Given the description of an element on the screen output the (x, y) to click on. 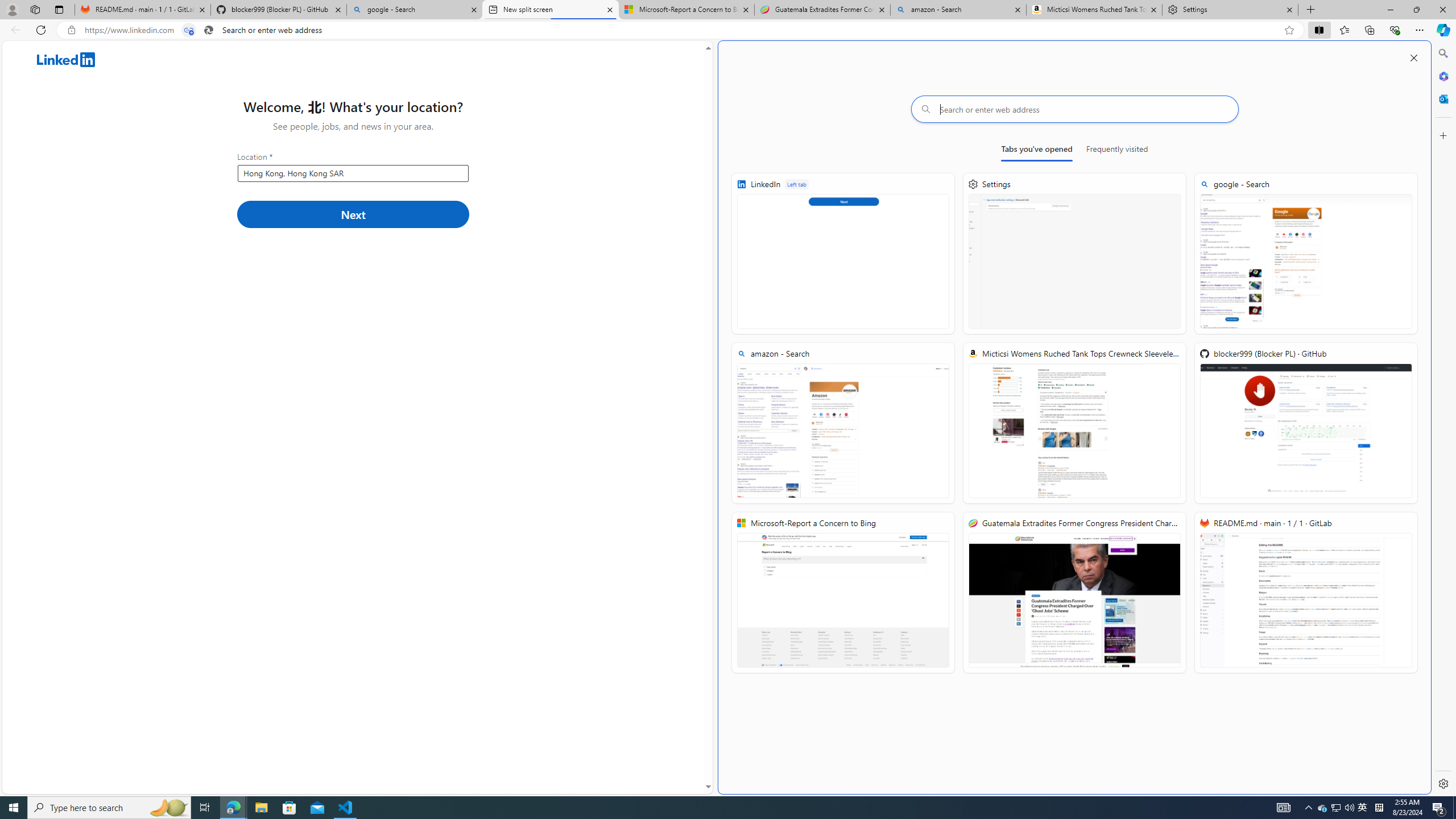
Tabs in split screen (189, 29)
Close split screen (1413, 57)
LinkedIn (842, 253)
